Given the description of an element on the screen output the (x, y) to click on. 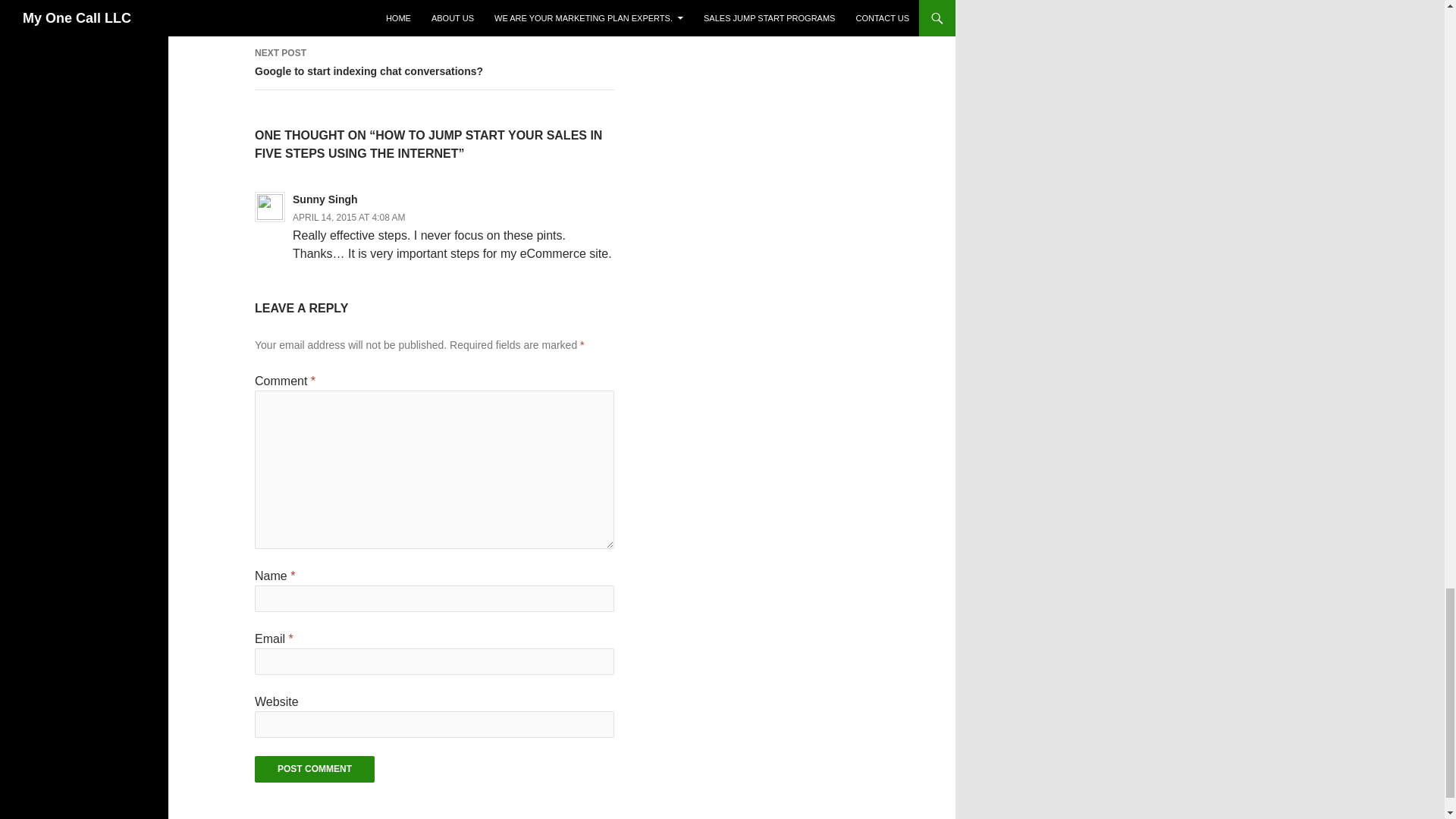
Post Comment (434, 18)
